Given the description of an element on the screen output the (x, y) to click on. 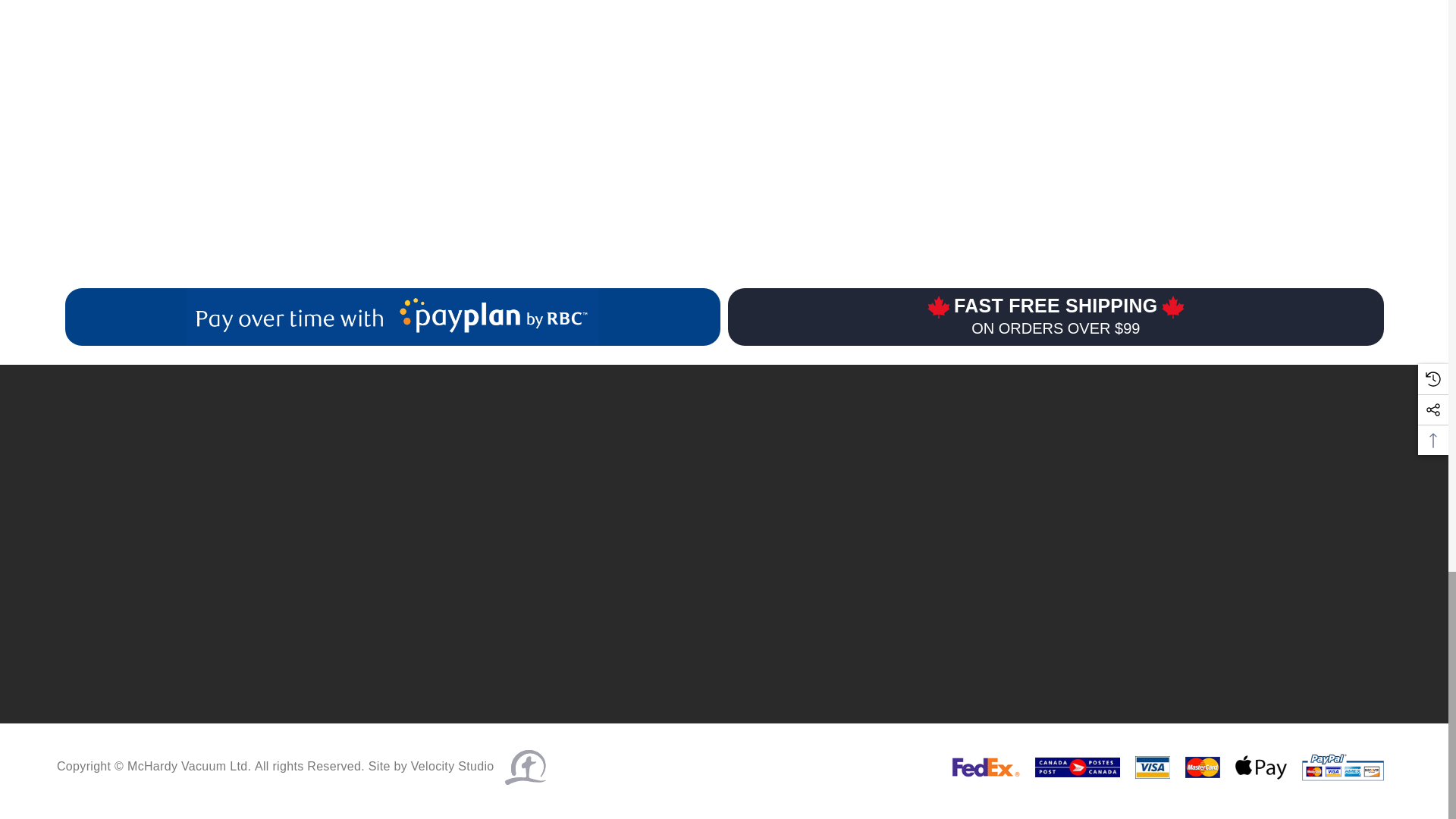
Pay over time with PayPlan by RBC (392, 316)
Fast Free Shipping (1055, 316)
